Given the description of an element on the screen output the (x, y) to click on. 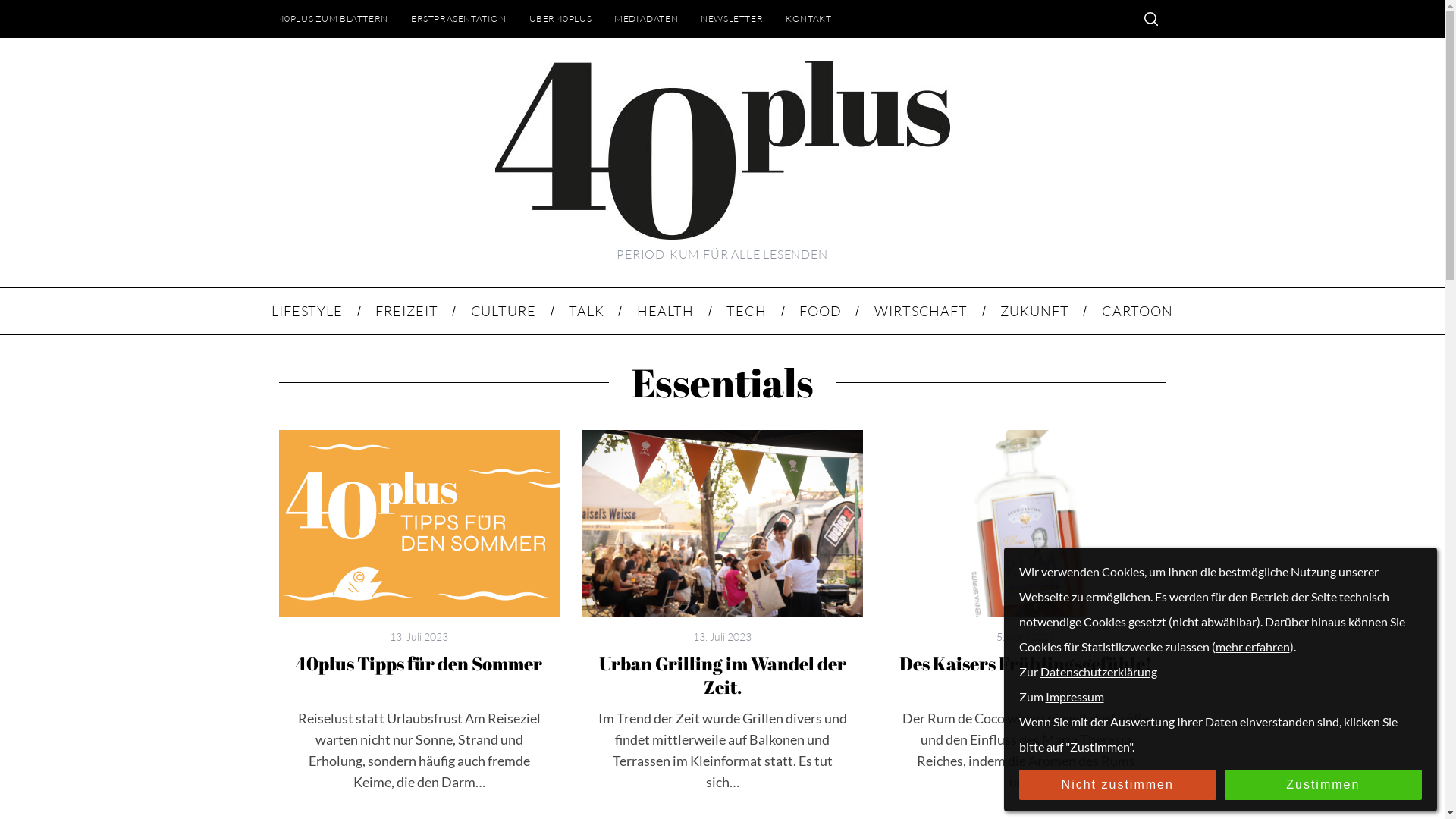
FOOD Element type: text (820, 310)
TECH Element type: text (746, 310)
ZUKUNFT Element type: text (1034, 310)
FREIZEIT Element type: text (406, 310)
CARTOON Element type: text (1137, 310)
TALK Element type: text (586, 310)
Urban Grilling im Wandel der Zeit. Element type: hover (722, 523)
KONTAKT Element type: text (808, 18)
WIRTSCHAFT Element type: text (920, 310)
CULTURE Element type: text (503, 310)
Zustimmen Element type: text (1322, 784)
NEWSLETTER Element type: text (731, 18)
HEALTH Element type: text (665, 310)
Nicht zustimmen Element type: text (1117, 784)
Impressum Element type: text (1073, 696)
LIFESTYLE Element type: text (306, 310)
MEDIADATEN Element type: text (645, 18)
Urban Grilling im Wandel der Zeit. Element type: text (722, 675)
mehr erfahren Element type: text (1251, 646)
